Given the description of an element on the screen output the (x, y) to click on. 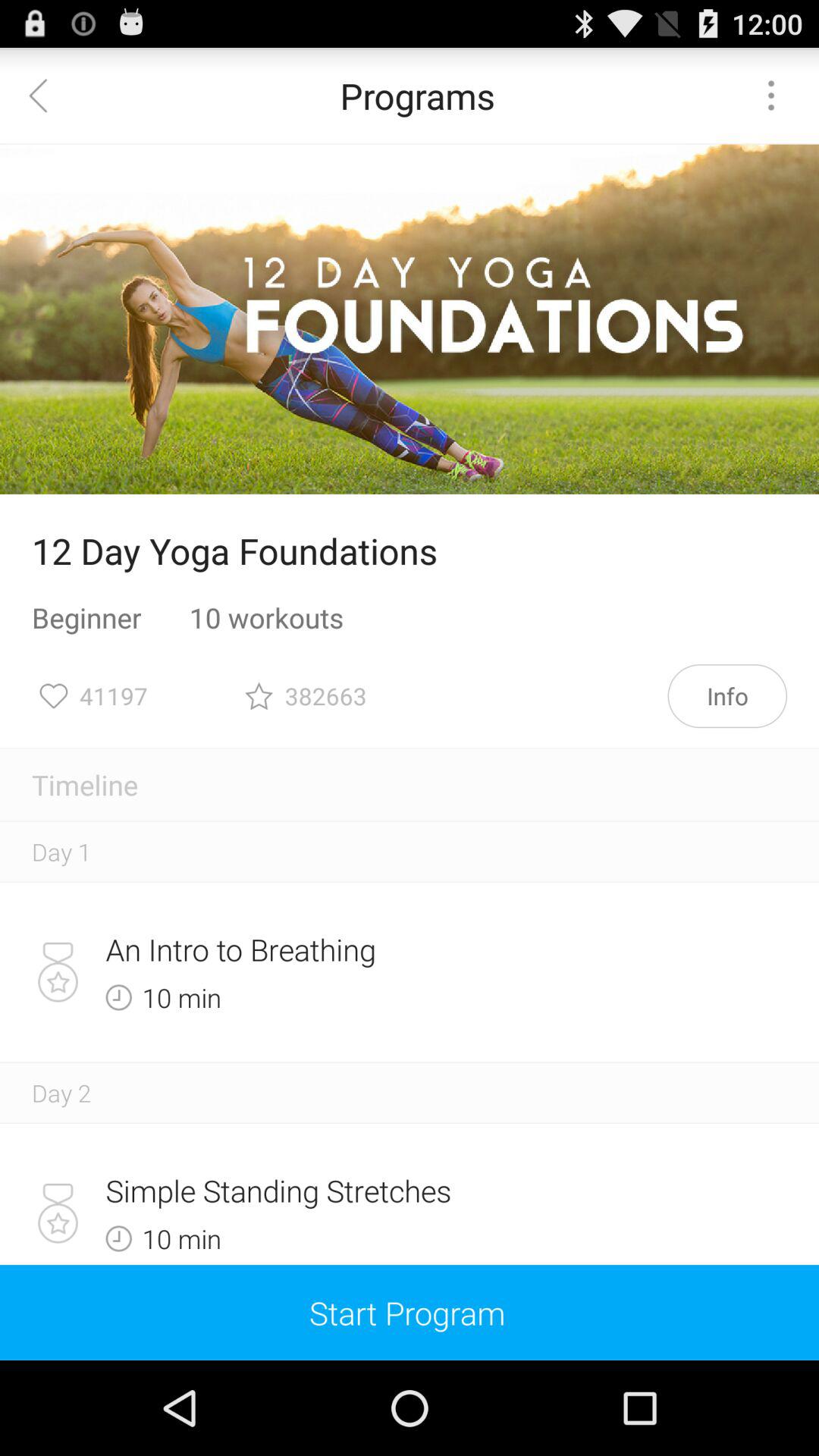
scroll to day 2 item (61, 1092)
